Given the description of an element on the screen output the (x, y) to click on. 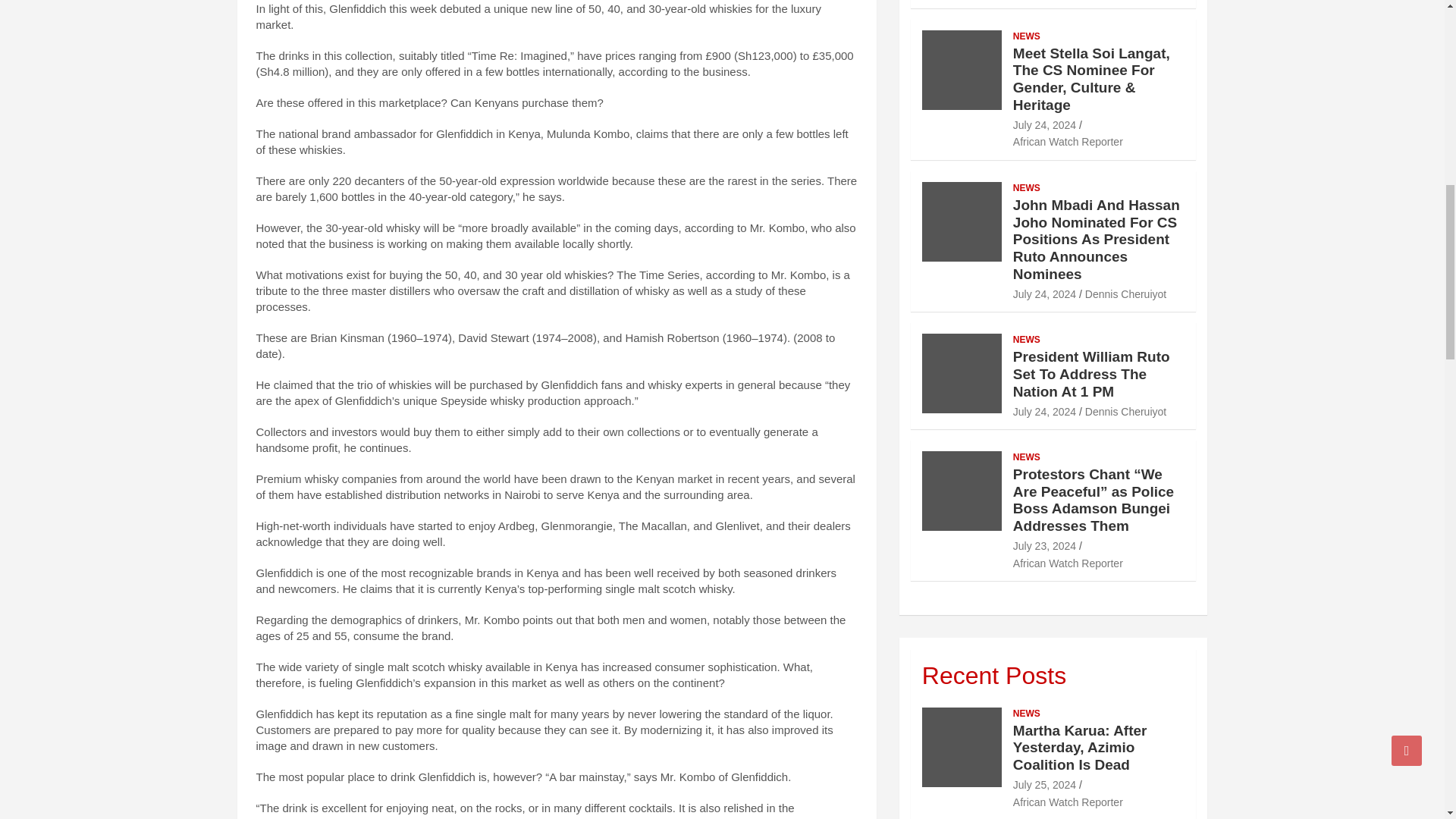
President William Ruto Set To Address The Nation At 1 PM (1044, 410)
